Given the description of an element on the screen output the (x, y) to click on. 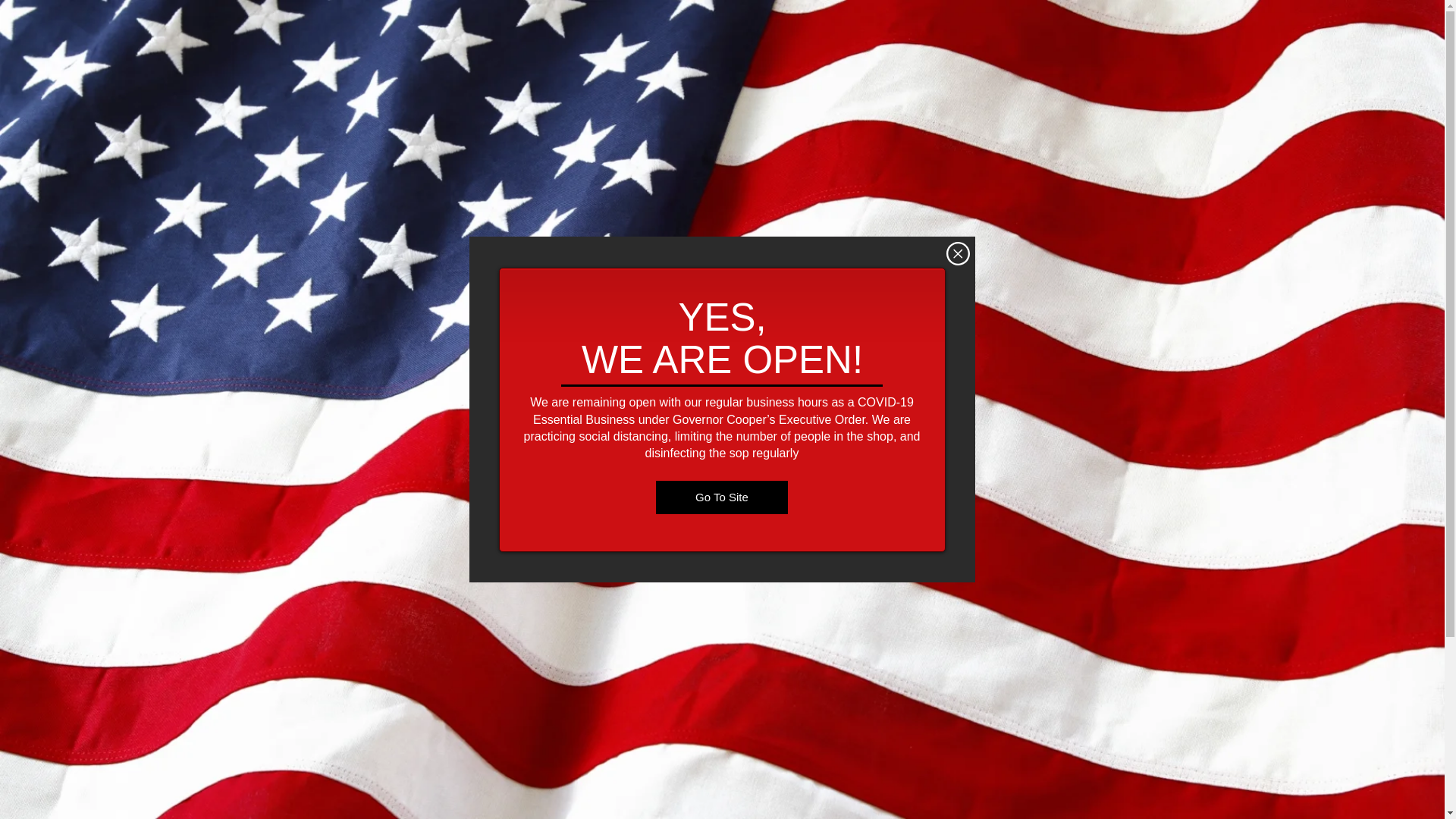
Back to site (957, 253)
Instagram Feed (921, 648)
SHOP (854, 166)
HOME (392, 166)
CONTACT (1042, 166)
ABOUT (944, 166)
Shop Here (537, 745)
